Given the description of an element on the screen output the (x, y) to click on. 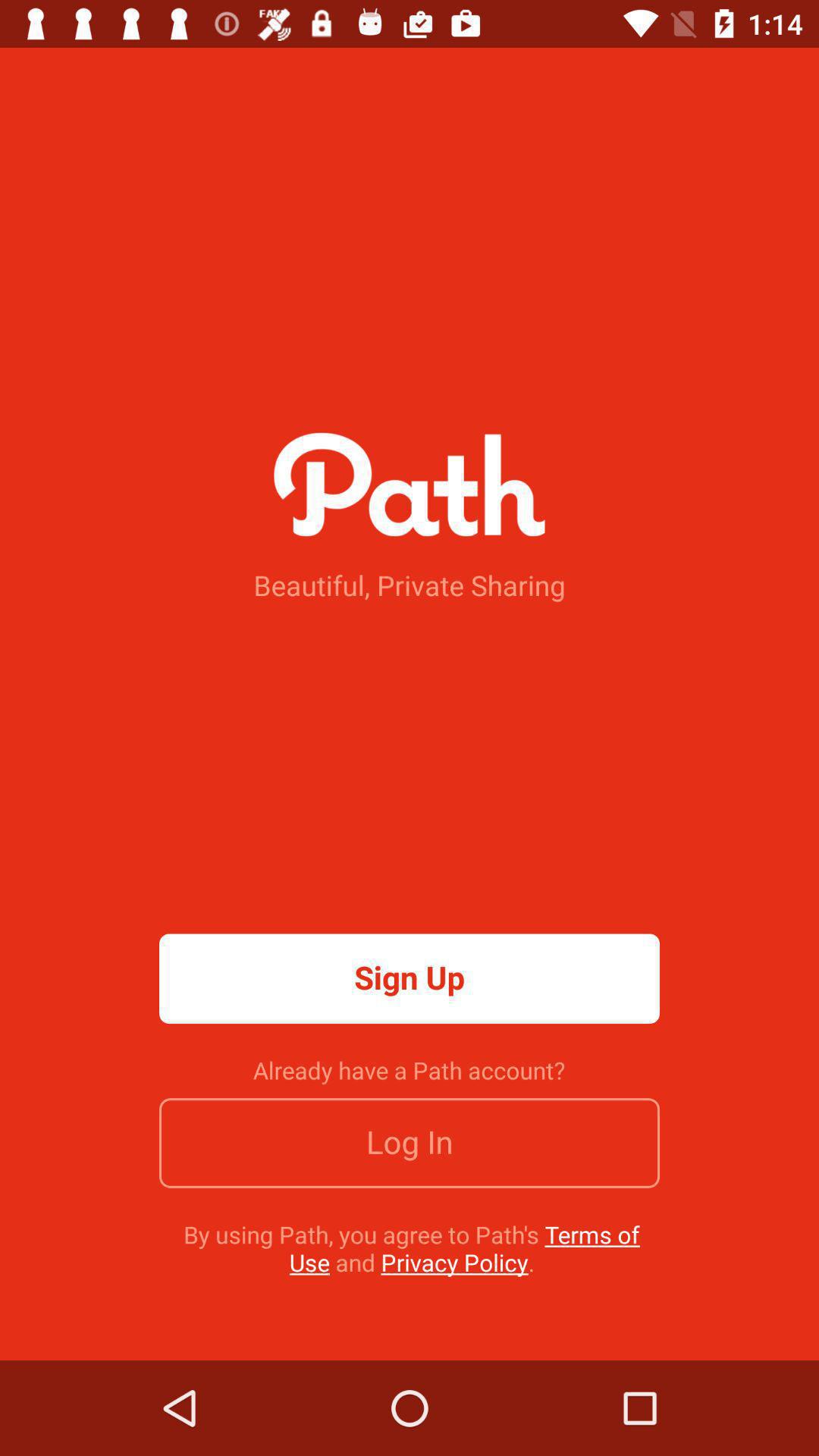
press the icon below the log in item (411, 1248)
